Given the description of an element on the screen output the (x, y) to click on. 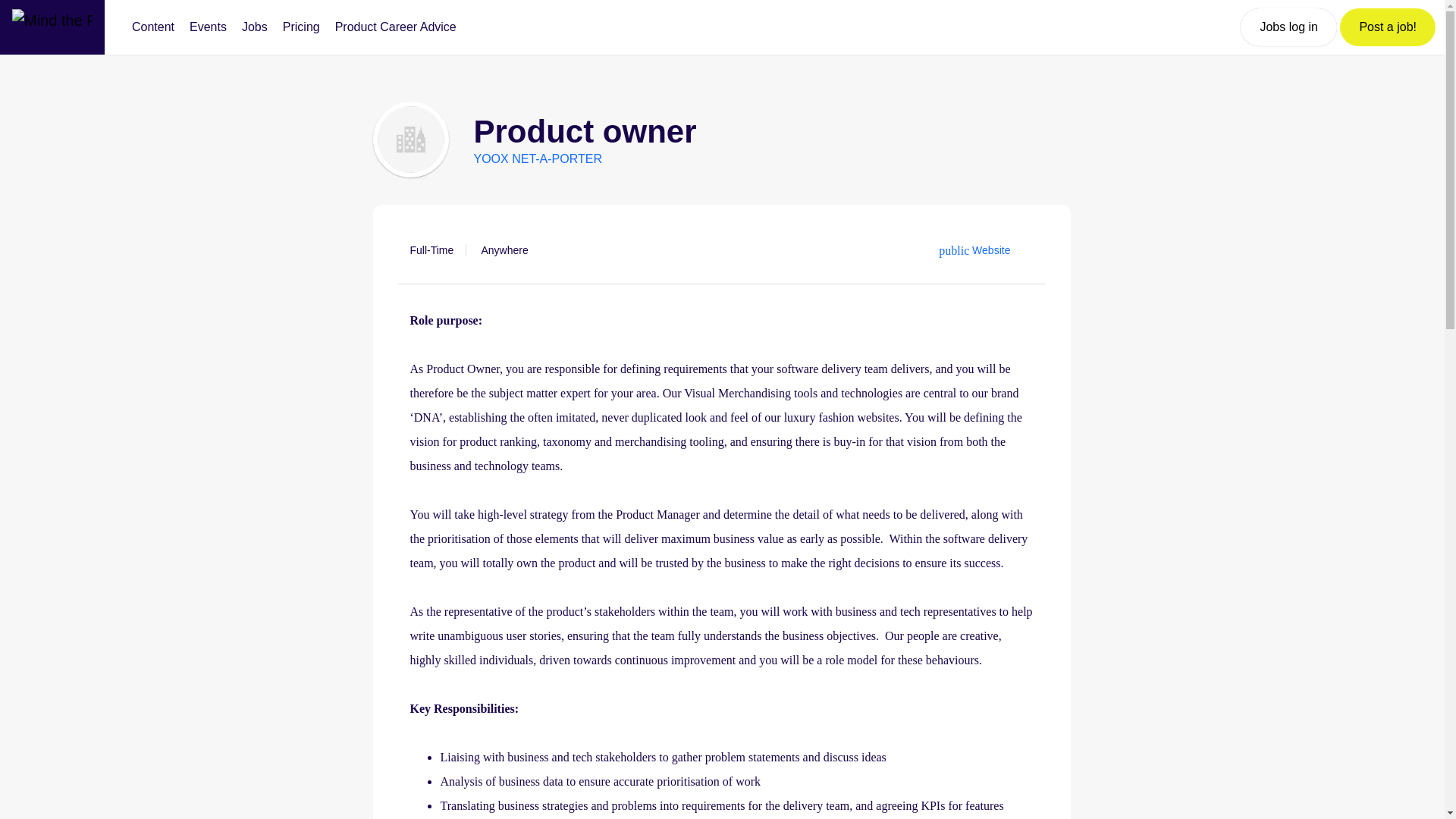
Jobs log in (1288, 26)
Jobs (254, 27)
Pricing (301, 27)
Events (208, 27)
Content (153, 27)
Product Career Advice (395, 27)
Post a job! (1387, 26)
Pricing (301, 27)
YOOX NET-A-PORTER (537, 158)
Jobs (254, 27)
